Given the description of an element on the screen output the (x, y) to click on. 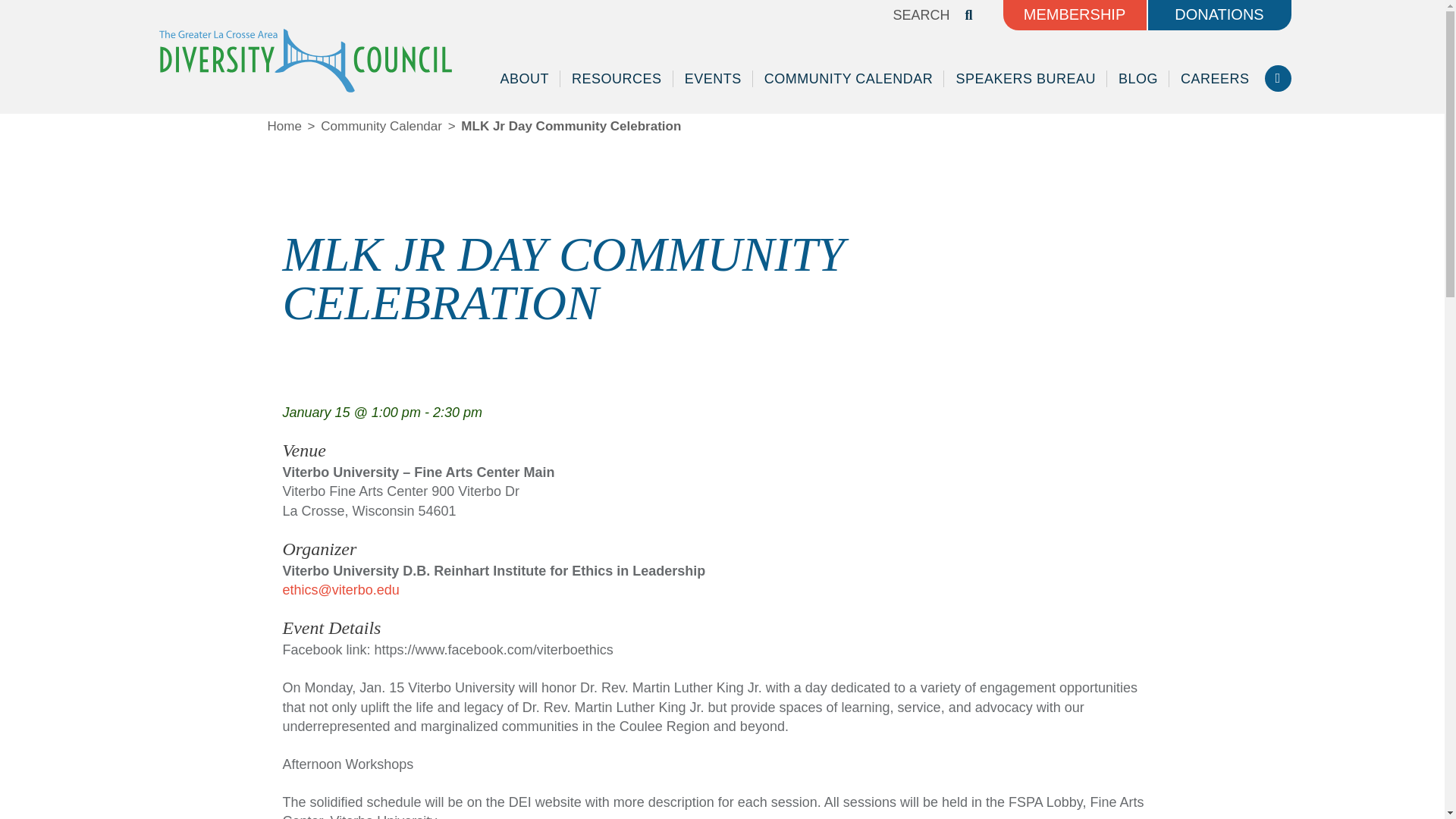
RESOURCES (616, 79)
Facebook (1278, 78)
EVENTS (712, 79)
COMMUNITY CALENDAR (848, 79)
BLOG (1137, 79)
Home (283, 125)
SPEAKERS BUREAU (1024, 79)
DONATIONS (1219, 15)
Community Calendar (381, 125)
CAREERS (1214, 79)
Search (838, 13)
Search (838, 13)
MEMBERSHIP (1074, 15)
ABOUT (524, 79)
